Given the description of an element on the screen output the (x, y) to click on. 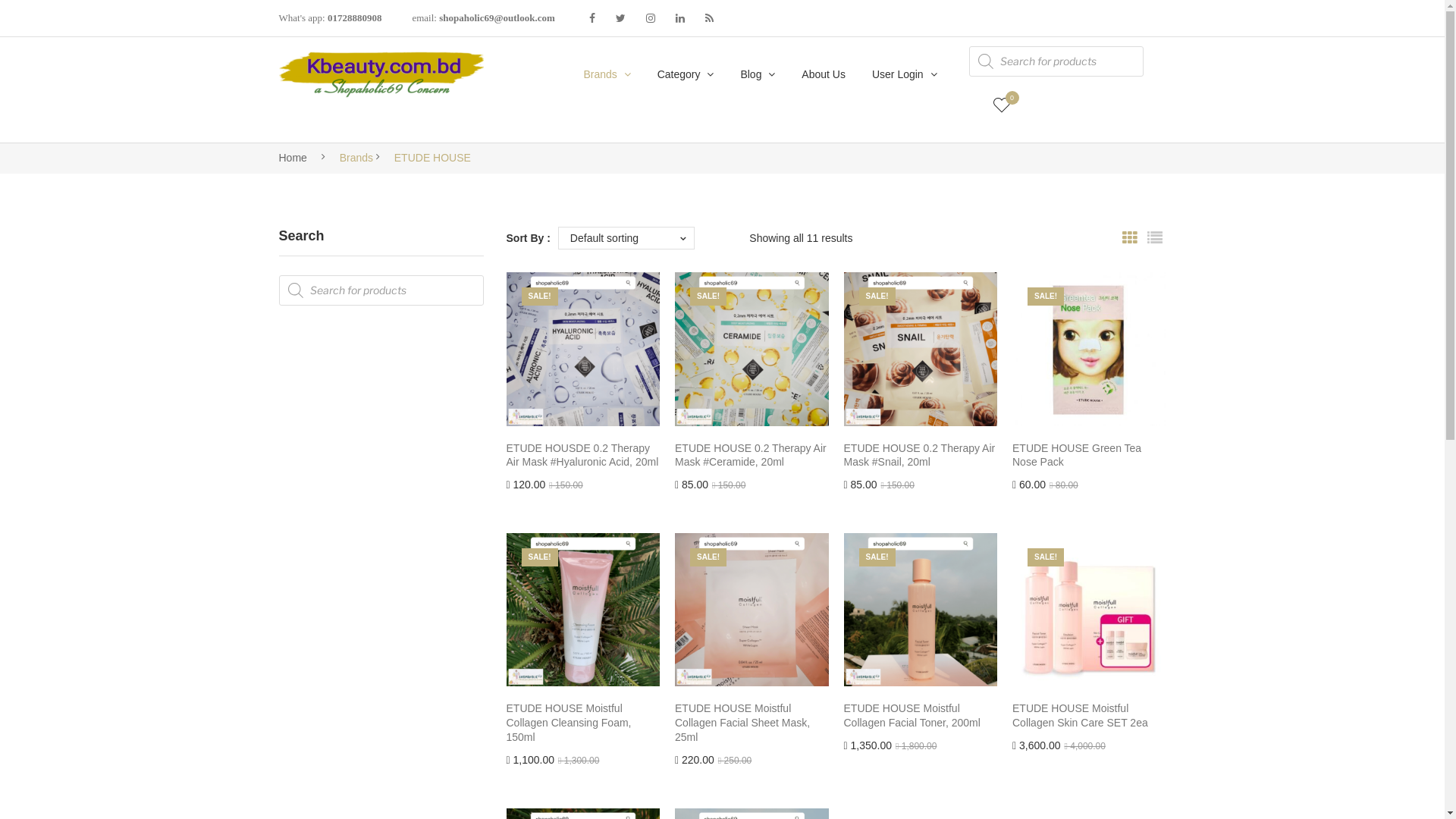
Rss Element type: hover (709, 18)
0 Element type: text (1001, 104)
ETUDE HOUSE Moistful Collagen Facial Sheet Mask, 25ml Element type: text (751, 722)
Instagram Element type: hover (650, 18)
SALE! Element type: text (583, 349)
ETUDE HOUSE Green Tea Nose Pack Element type: text (1089, 455)
Blog Element type: text (757, 74)
Facebook Element type: hover (592, 18)
SALE! Element type: text (1089, 349)
Category Element type: text (685, 74)
SALE! Element type: text (920, 610)
Twitter Element type: hover (620, 18)
About Us Element type: text (823, 74)
ETUDE HOUSE Moistful Collagen Skin Care SET 2ea Element type: text (1089, 715)
Linkedin Element type: hover (679, 18)
Home Element type: text (293, 157)
SALE! Element type: text (751, 610)
Grid Element type: text (1128, 237)
Brands Element type: text (606, 74)
ETUDE HOUSE Moistful Collagen Cleansing Foam, 150ml Element type: text (583, 722)
List Element type: text (1154, 237)
SALE! Element type: text (583, 610)
SALE! Element type: text (920, 349)
User Login Element type: text (904, 74)
ETUDE HOUSE 0.2 Therapy Air Mask #Snail, 20ml Element type: text (920, 455)
ETUDE HOUSE 0.2 Therapy Air Mask #Ceramide, 20ml Element type: text (751, 455)
ETUDE HOUSDE 0.2 Therapy Air Mask #Hyaluronic Acid, 20ml Element type: text (583, 455)
SALE! Element type: text (1089, 610)
Default sorting Element type: text (626, 237)
SALE! Element type: text (751, 349)
ETUDE HOUSE Moistful Collagen Facial Toner, 200ml Element type: text (920, 715)
